Given the description of an element on the screen output the (x, y) to click on. 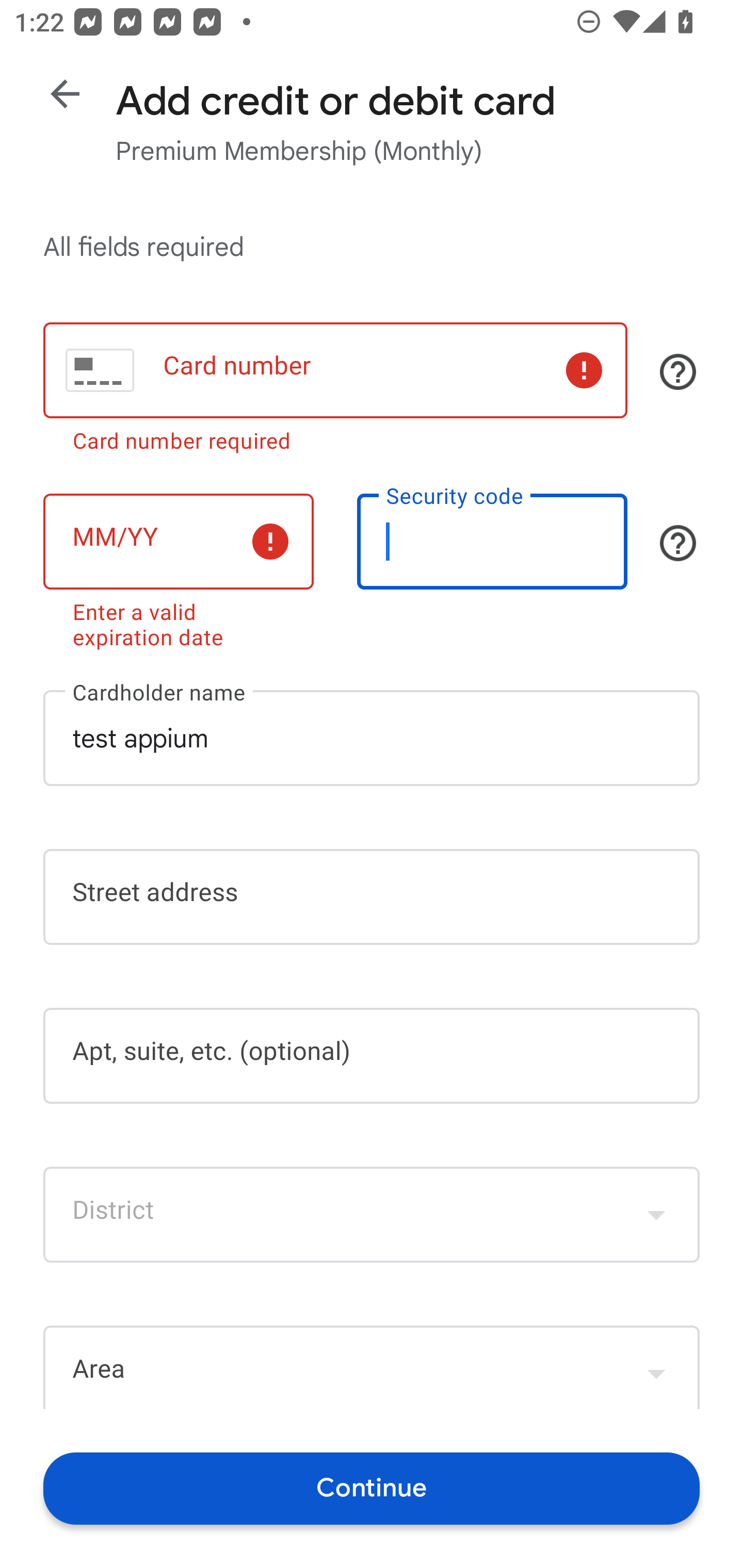
Back (64, 93)
Card number (335, 370)
Button, shows cards that are accepted for payment (677, 371)
Expiration date, 2 digit month, 2 digit year (178, 541)
Security code (492, 541)
Security code help (677, 543)
test appium (371, 737)
Street address (371, 896)
Apt, suite, etc. (optional) (371, 1055)
District (371, 1214)
Show dropdown menu (655, 1214)
Area (371, 1366)
Show dropdown menu (655, 1369)
Continue (371, 1487)
